Given the description of an element on the screen output the (x, y) to click on. 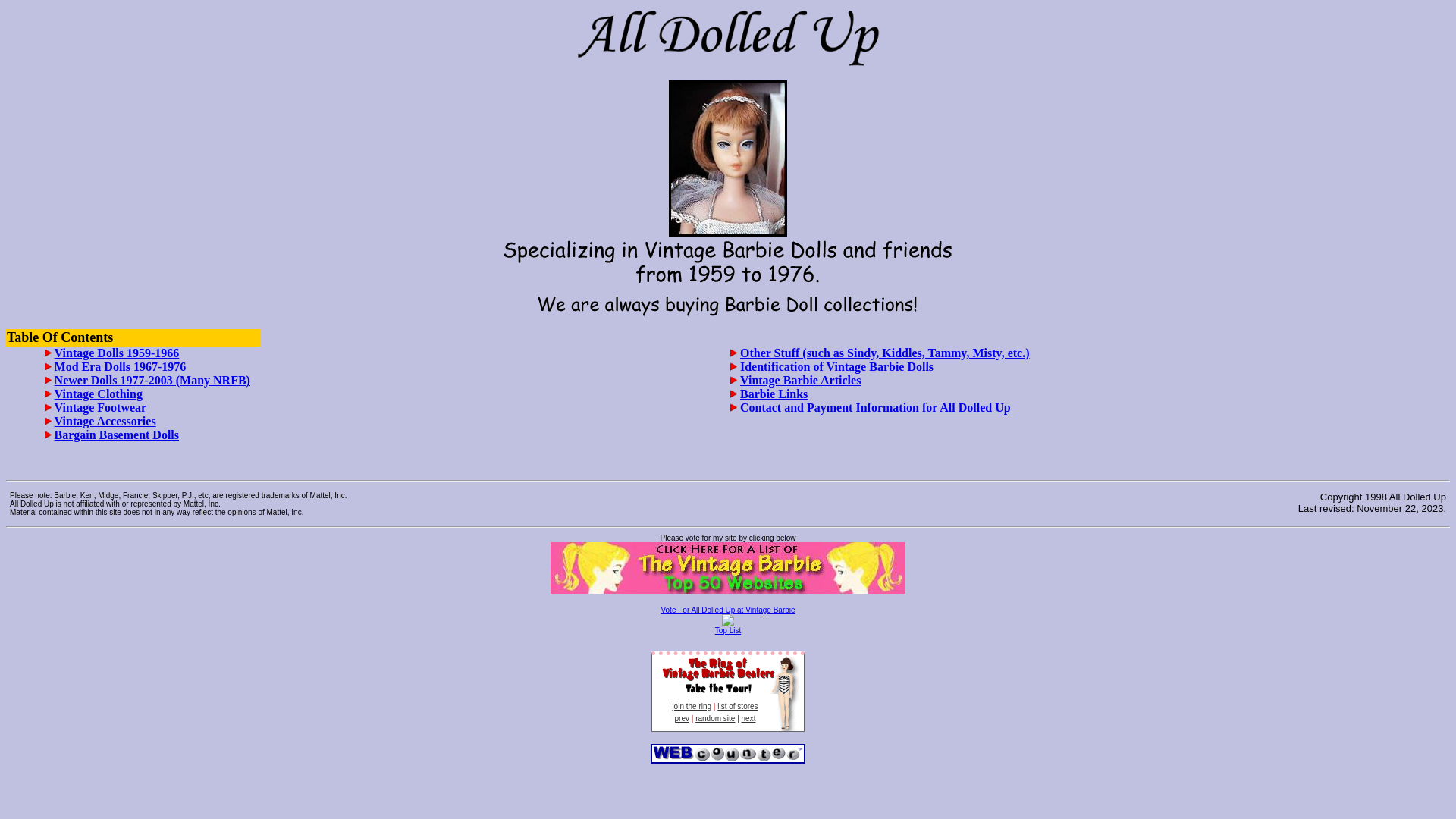
Vintage Dolls 1959-1966 Element type: text (116, 352)
Vintage Accessories Element type: text (105, 420)
list of stores Element type: text (737, 706)
join the ring Element type: text (691, 706)
Vintage Clothing Element type: text (98, 393)
Contact and Payment Information for All Dolled Up Element type: text (875, 407)
Newer Dolls 1977-2003 (Many NRFB) Element type: text (152, 379)
Identification of Vintage Barbie Dolls Element type: text (836, 366)
Vintage Barbie Articles Element type: text (800, 379)
Vintage Footwear Element type: text (100, 407)
next Element type: text (748, 718)
Bargain Basement Dolls Element type: text (116, 434)
Vote For All Dolled Up at Vintage Barbie Element type: text (727, 609)
Mod Era Dolls 1967-1976 Element type: text (120, 366)
prev Element type: text (681, 718)
Top List Element type: text (727, 630)
Barbie Links Element type: text (773, 393)
random site Element type: text (714, 718)
Other Stuff (such as Sindy, Kiddles, Tammy, Misty, etc.) Element type: text (884, 352)
